Given the description of an element on the screen output the (x, y) to click on. 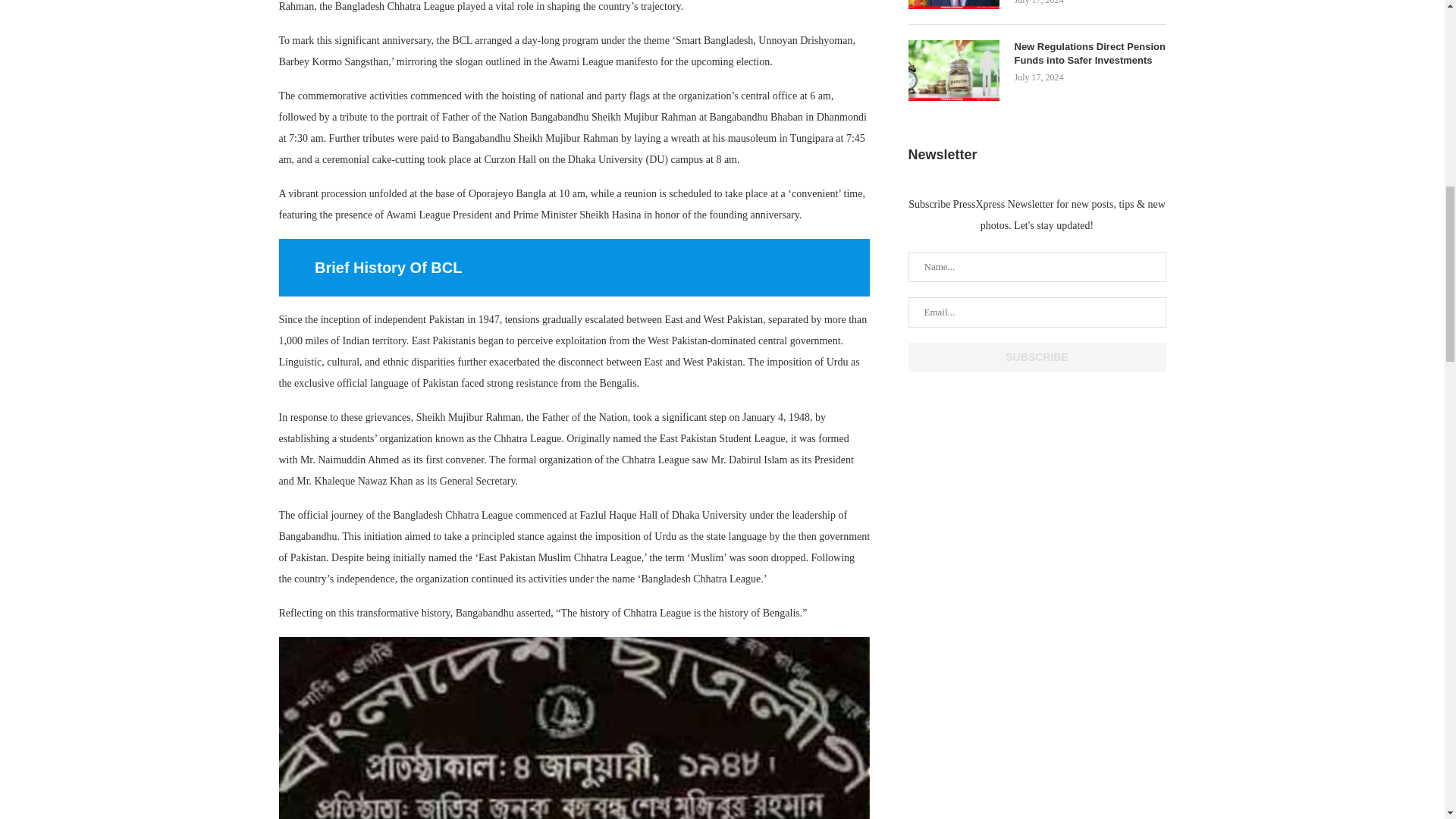
Subscribe (1037, 357)
